Given the description of an element on the screen output the (x, y) to click on. 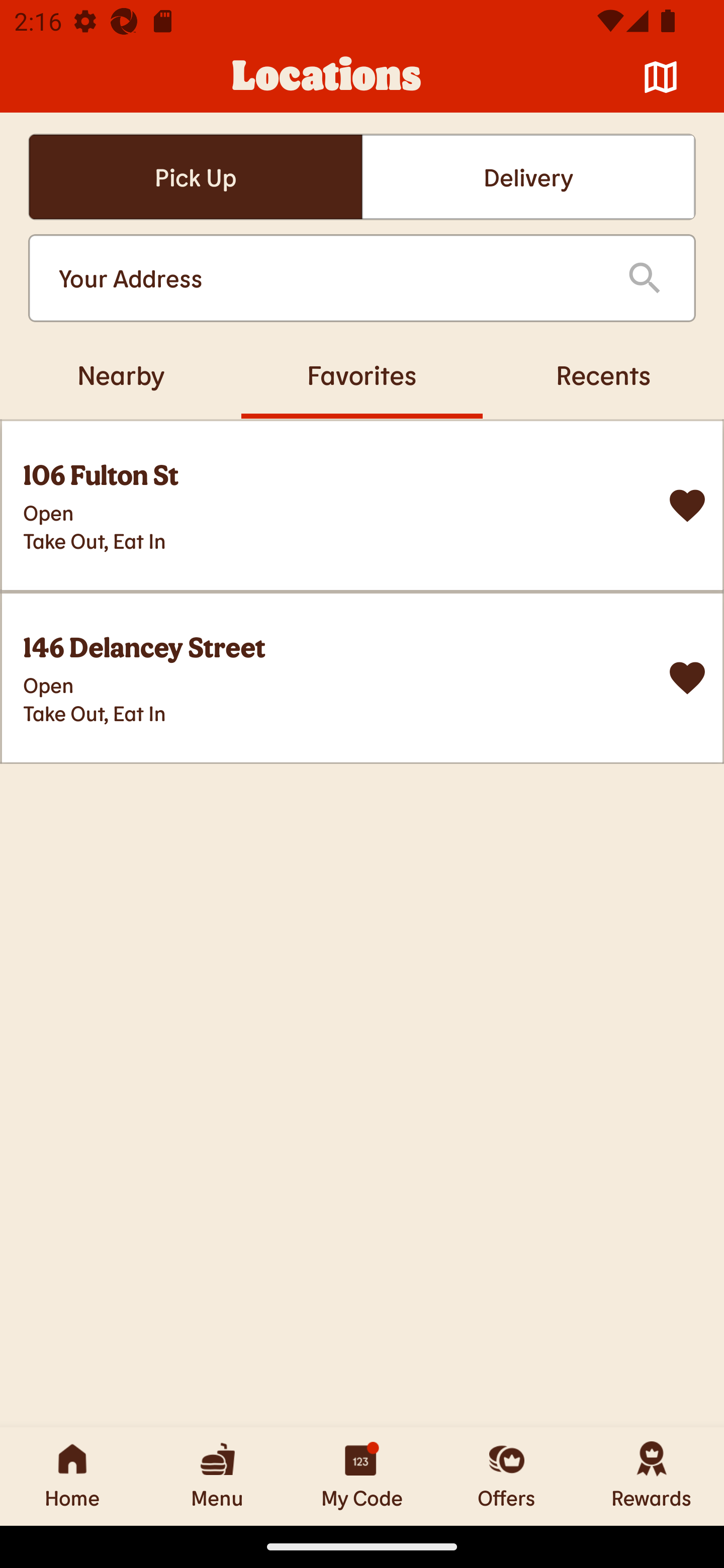
Map 󰦂 (660, 77)
Locations (326, 77)
Pick UpSelected Pick UpSelected Pick Up (195, 176)
Delivery Delivery Delivery (528, 176)
Your Address (327, 277)
Nearby (120, 374)
Favorites (361, 374)
Recents (603, 374)
Remove from Favorites?  (687, 505)
Remove from Favorites?  (687, 677)
Home (72, 1475)
Menu (216, 1475)
My Code (361, 1475)
Offers (506, 1475)
Rewards (651, 1475)
